Given the description of an element on the screen output the (x, y) to click on. 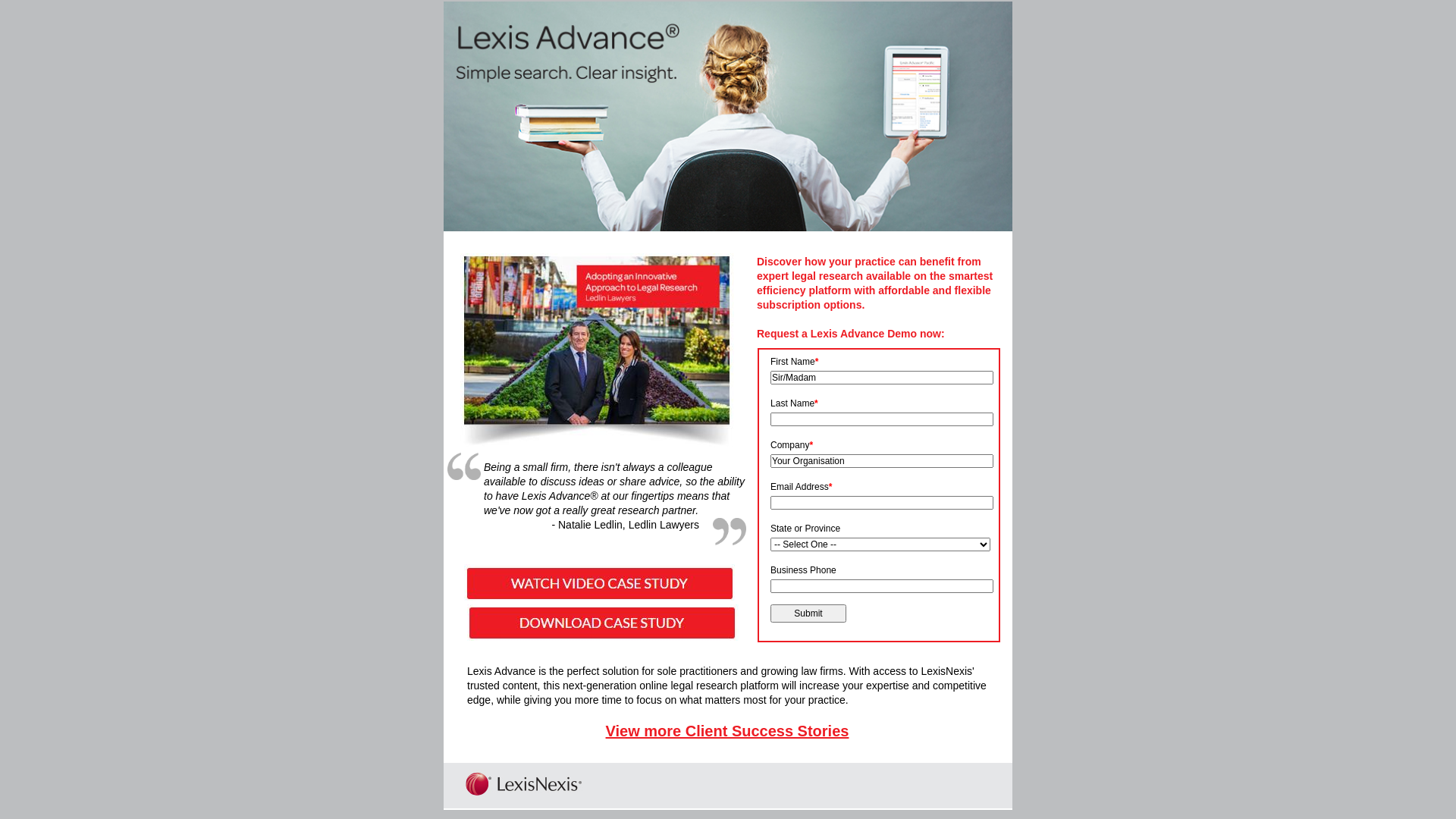
Submit Element type: text (808, 613)
View more Client Success Stories Element type: text (727, 730)
